Given the description of an element on the screen output the (x, y) to click on. 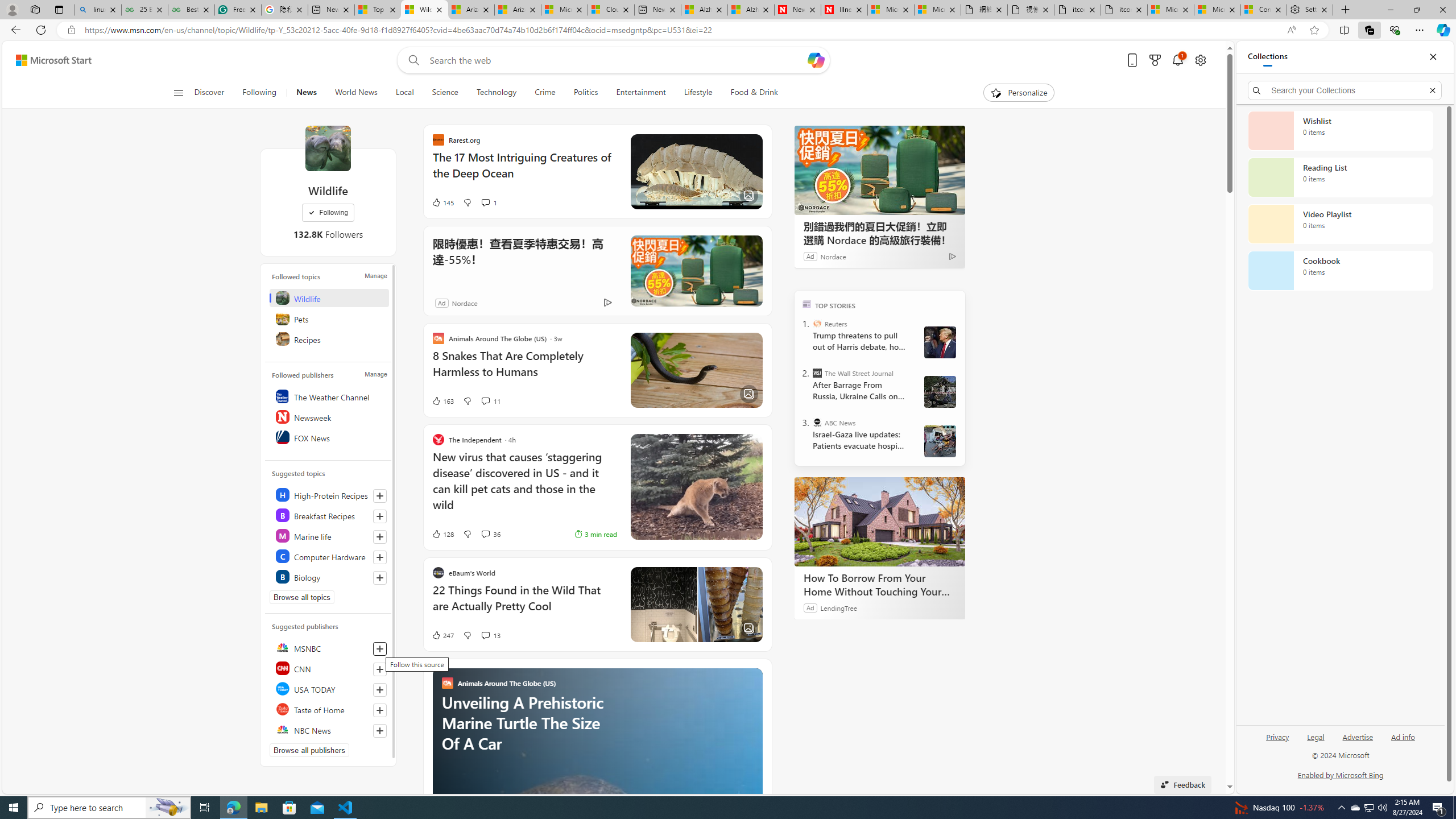
View comments 11 Comment (490, 400)
LendingTree (838, 607)
Recipes (328, 339)
128 Like (442, 533)
Wishlist collection, 0 items (1339, 130)
163 Like (442, 400)
